Given the description of an element on the screen output the (x, y) to click on. 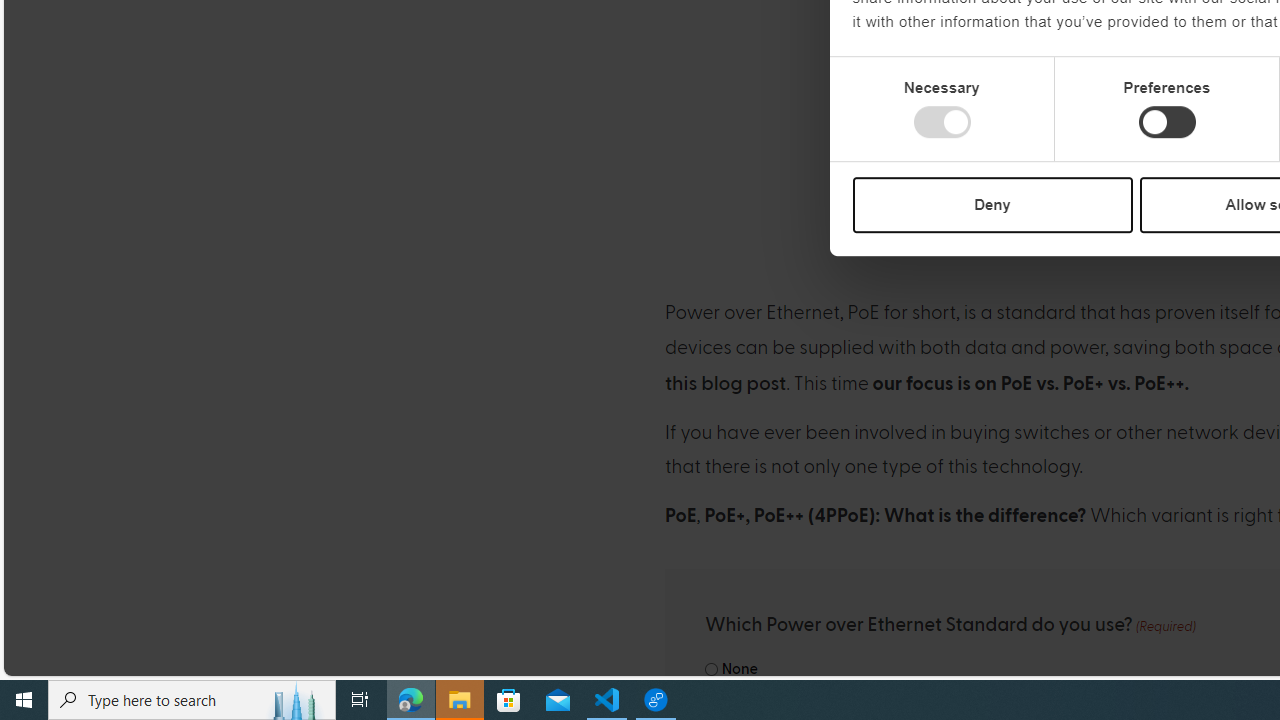
None (711, 669)
Preferences (1166, 121)
Deny (992, 204)
Necessary (941, 121)
